Given the description of an element on the screen output the (x, y) to click on. 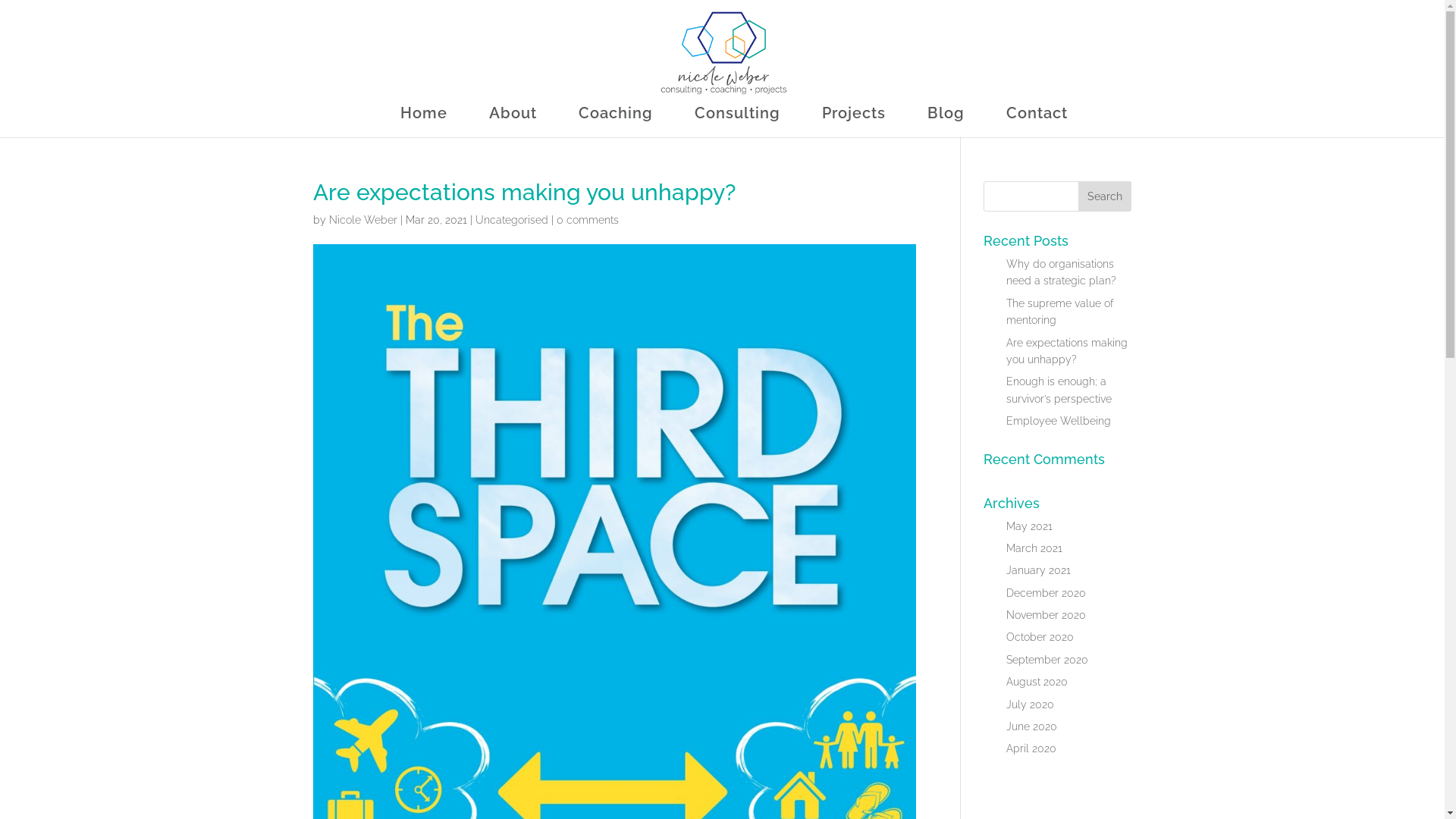
Consulting Element type: text (737, 122)
Coaching Element type: text (614, 122)
June 2020 Element type: text (1031, 726)
April 2020 Element type: text (1031, 748)
Why do organisations need a strategic plan? Element type: text (1061, 271)
November 2020 Element type: text (1045, 614)
September 2020 Element type: text (1047, 659)
Blog Element type: text (944, 122)
May 2021 Element type: text (1029, 526)
December 2020 Element type: text (1045, 592)
Employee Wellbeing Element type: text (1058, 420)
July 2020 Element type: text (1030, 704)
March 2021 Element type: text (1034, 548)
January 2021 Element type: text (1038, 570)
About Element type: text (512, 122)
Projects Element type: text (853, 122)
Contact Element type: text (1035, 122)
Nicole Weber Element type: text (363, 219)
The supreme value of mentoring Element type: text (1059, 311)
Home Element type: text (423, 122)
October 2020 Element type: text (1039, 636)
Are expectations making you unhappy? Element type: text (1066, 350)
Search Element type: text (1104, 196)
Uncategorised Element type: text (510, 219)
0 comments Element type: text (587, 219)
August 2020 Element type: text (1036, 681)
